Given the description of an element on the screen output the (x, y) to click on. 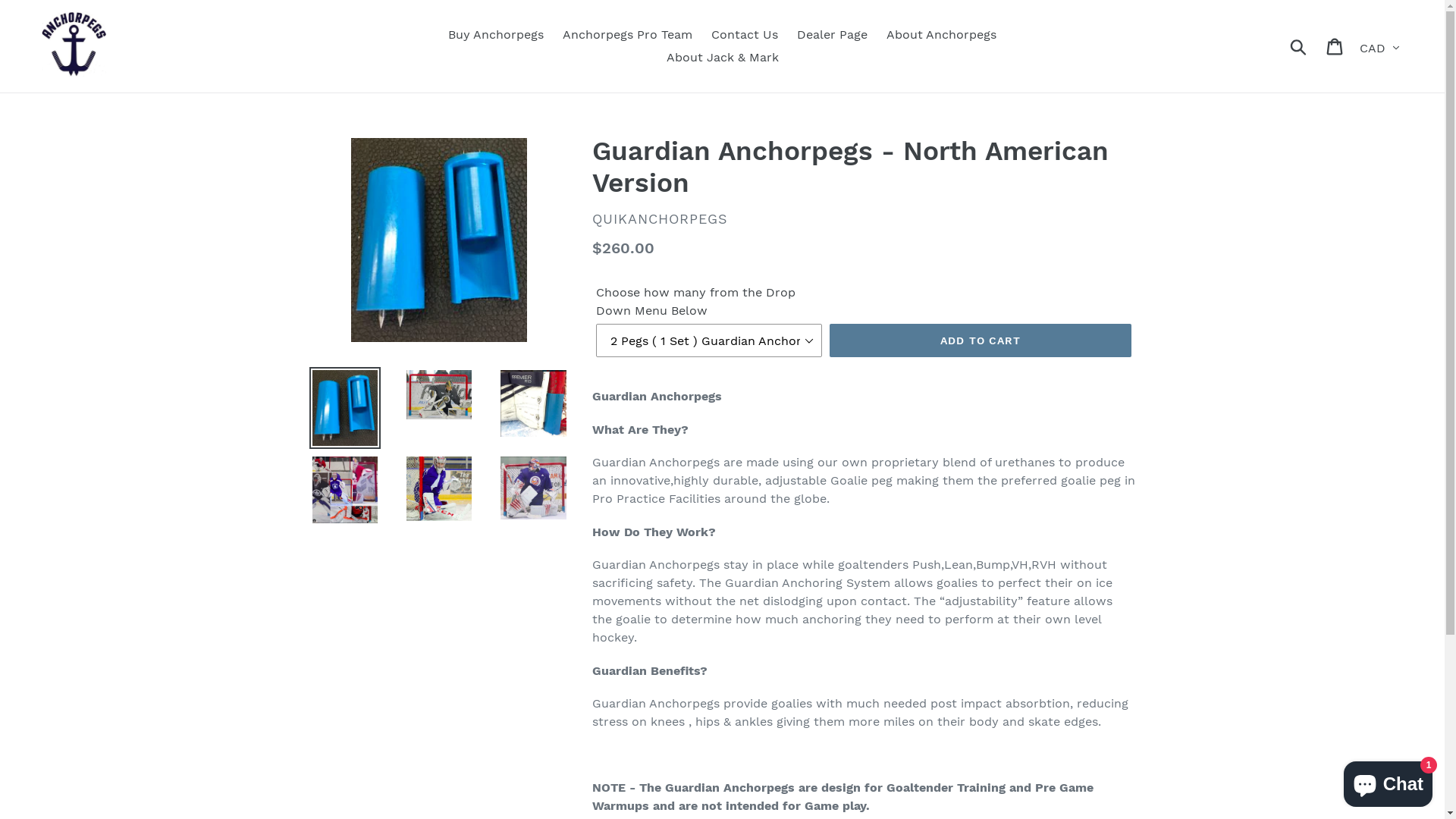
Dealer Page Element type: text (832, 34)
Buy Anchorpegs Element type: text (495, 34)
Shopify online store chat Element type: hover (1388, 780)
Submit Element type: text (1298, 45)
Contact Us Element type: text (744, 34)
Anchorpegs Pro Team Element type: text (627, 34)
About Jack & Mark Element type: text (721, 57)
ADD TO CART Element type: text (980, 340)
Cart Element type: text (1335, 46)
About Anchorpegs Element type: text (941, 34)
